Given the description of an element on the screen output the (x, y) to click on. 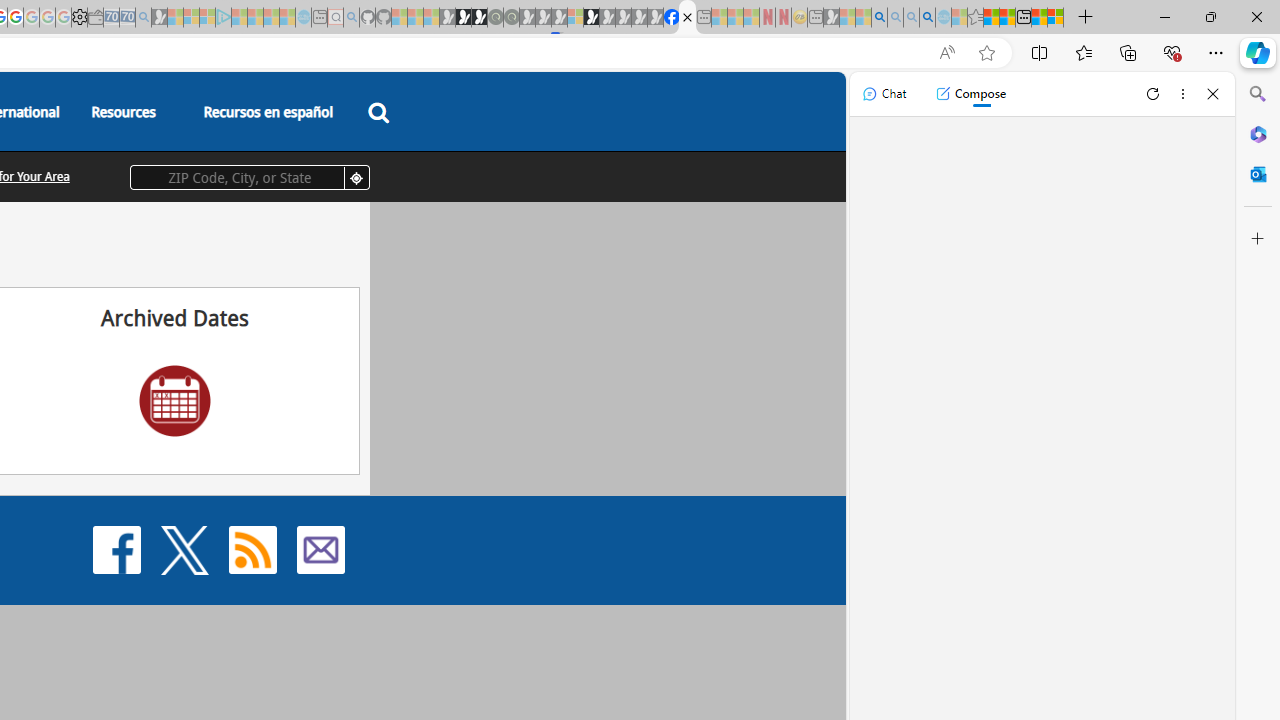
Bing AI - Search (879, 17)
Sign in to your account - Sleeping (575, 17)
Archived Dates (175, 400)
